Given the description of an element on the screen output the (x, y) to click on. 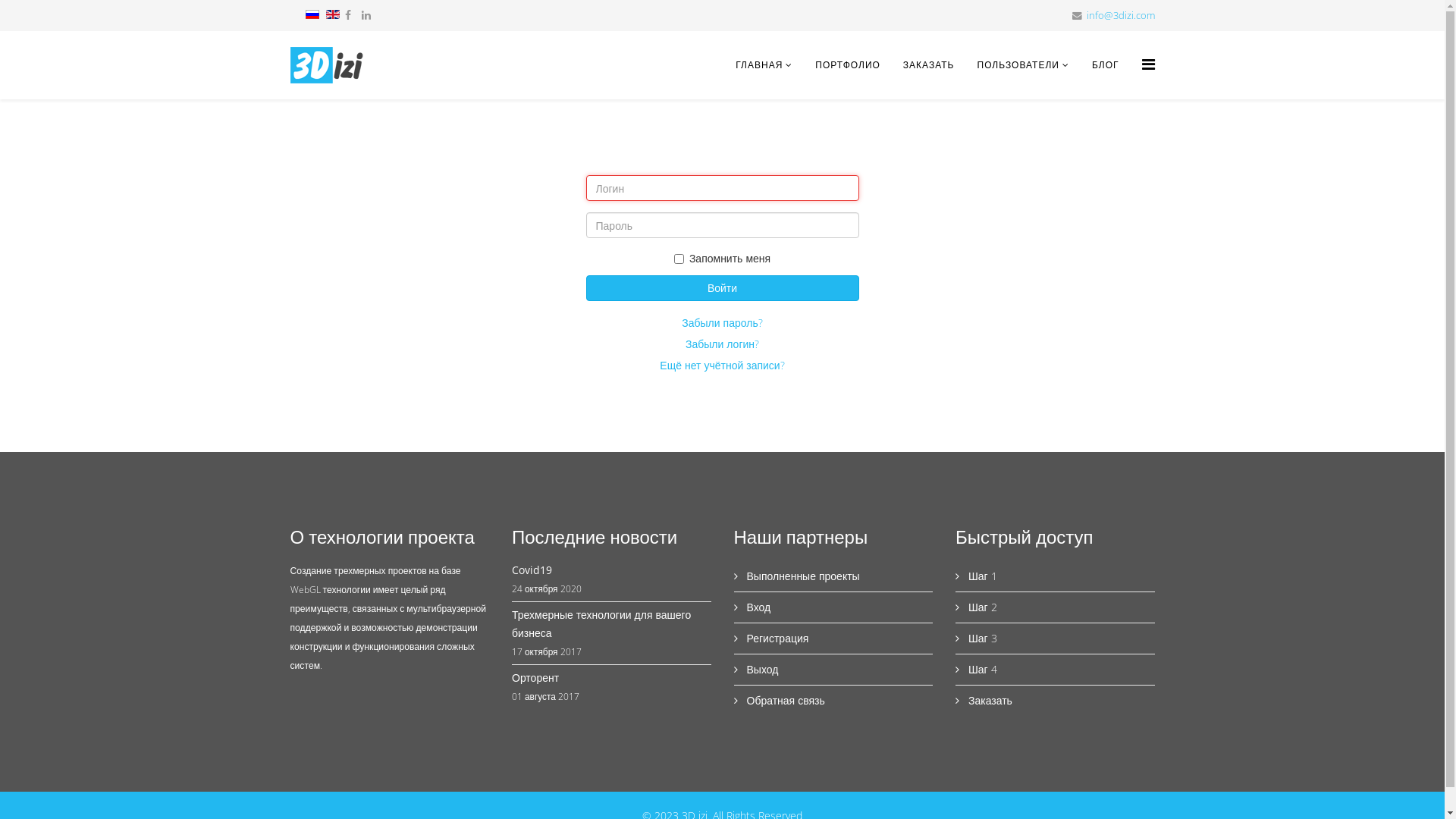
Covid19 Element type: text (611, 570)
info@3dizi.com Element type: text (1119, 15)
Russian Element type: hover (311, 13)
English (UK) Element type: hover (332, 13)
